Given the description of an element on the screen output the (x, y) to click on. 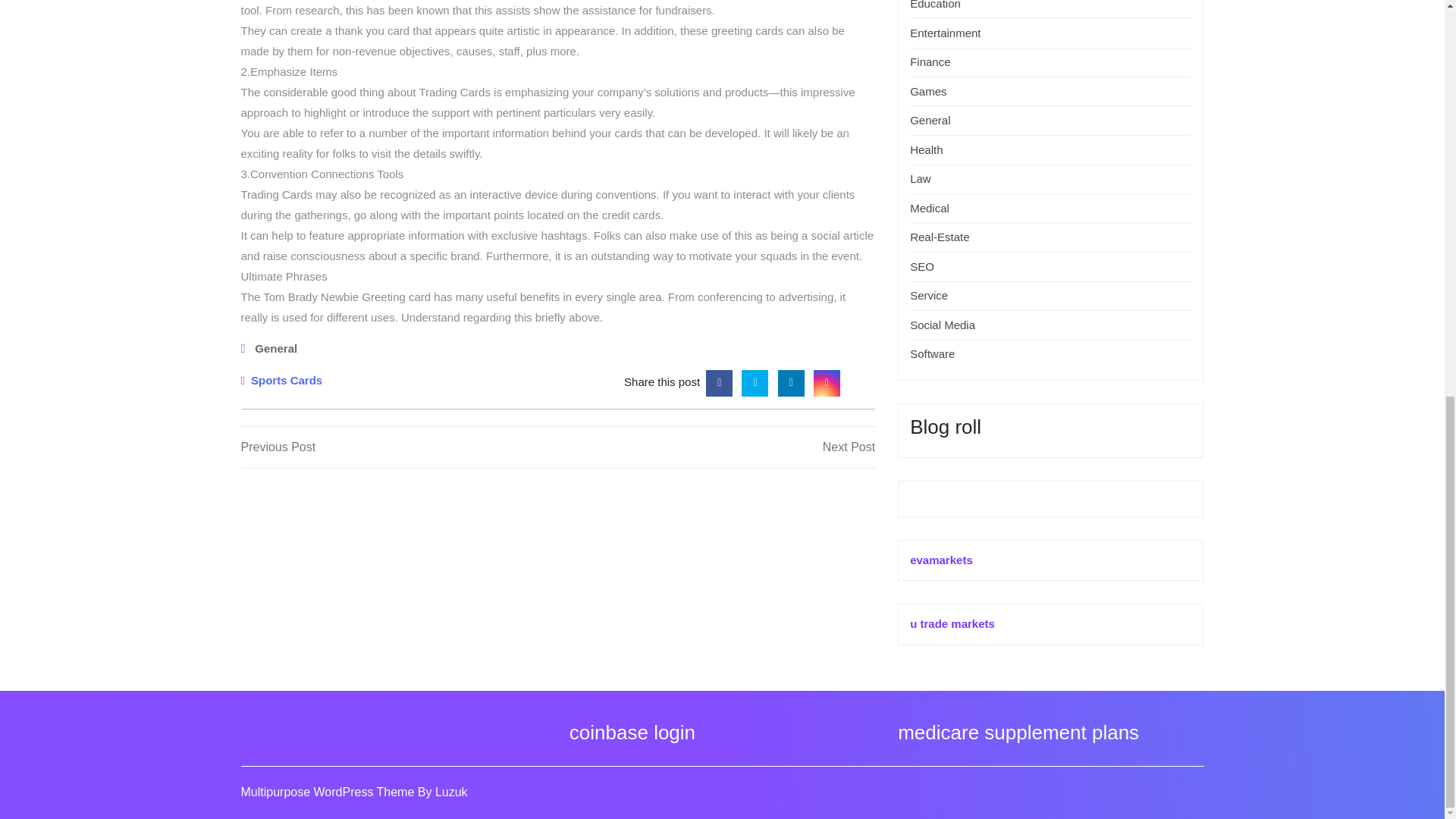
Facebook (719, 380)
Medical (929, 207)
Social Media (942, 324)
Games (928, 91)
Health (926, 149)
Instagram (826, 380)
Service (928, 295)
General (275, 348)
Finance (930, 61)
Law (920, 178)
Education (935, 4)
Real-Estate (939, 236)
General (930, 119)
Twitter (754, 380)
SEO (922, 266)
